Given the description of an element on the screen output the (x, y) to click on. 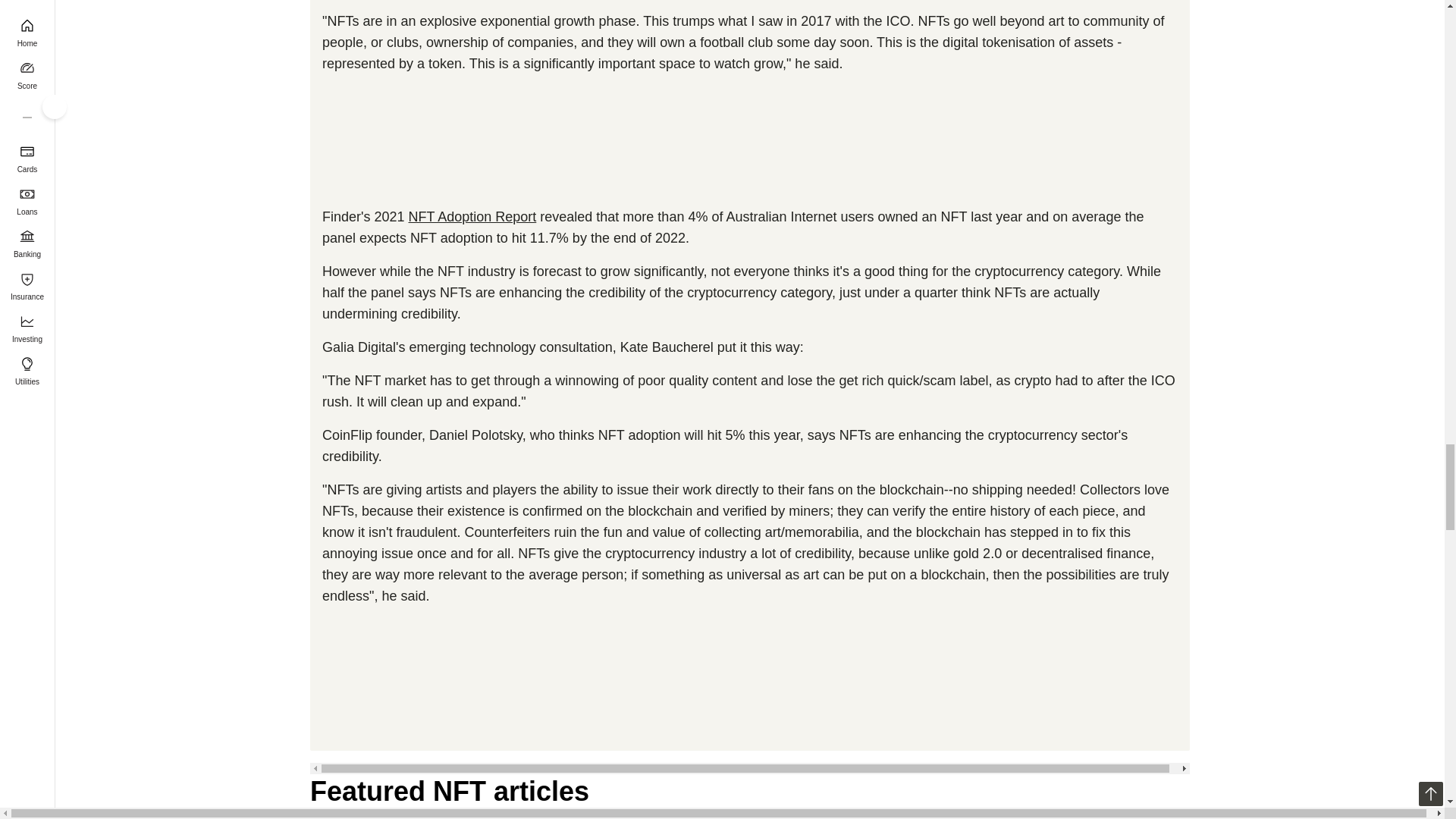
NFT market capitlisation predictions for 2022 and 2025 (749, 142)
